Given the description of an element on the screen output the (x, y) to click on. 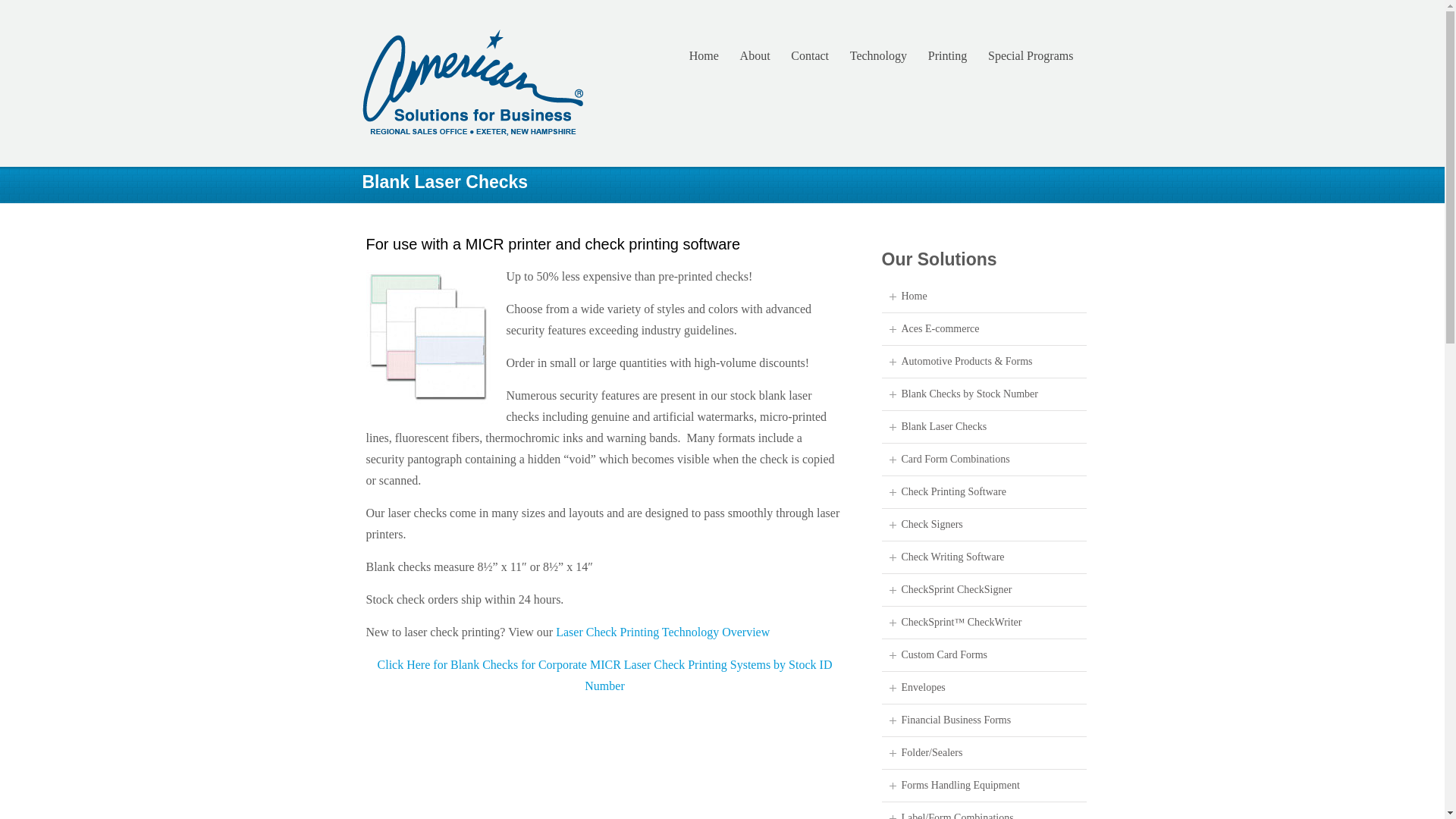
Printing (947, 55)
CheckSprint CheckSigner (956, 589)
Forms Handling Equipment (960, 785)
Envelopes (922, 686)
Custom Card Forms (944, 654)
Blank Laser Checks (944, 426)
About (754, 55)
Home (703, 55)
Aces E-commerce (939, 328)
Check Signers (931, 523)
Card Form Combinations (955, 459)
Check Writing Software (952, 556)
Home (913, 296)
Special Programs (1029, 55)
Technology (878, 55)
